Given the description of an element on the screen output the (x, y) to click on. 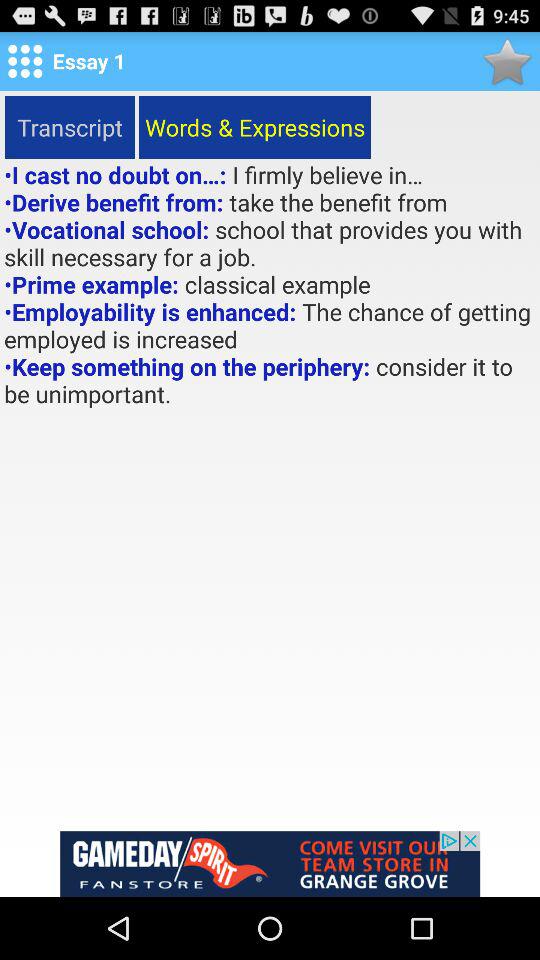
open advertisement (270, 864)
